Given the description of an element on the screen output the (x, y) to click on. 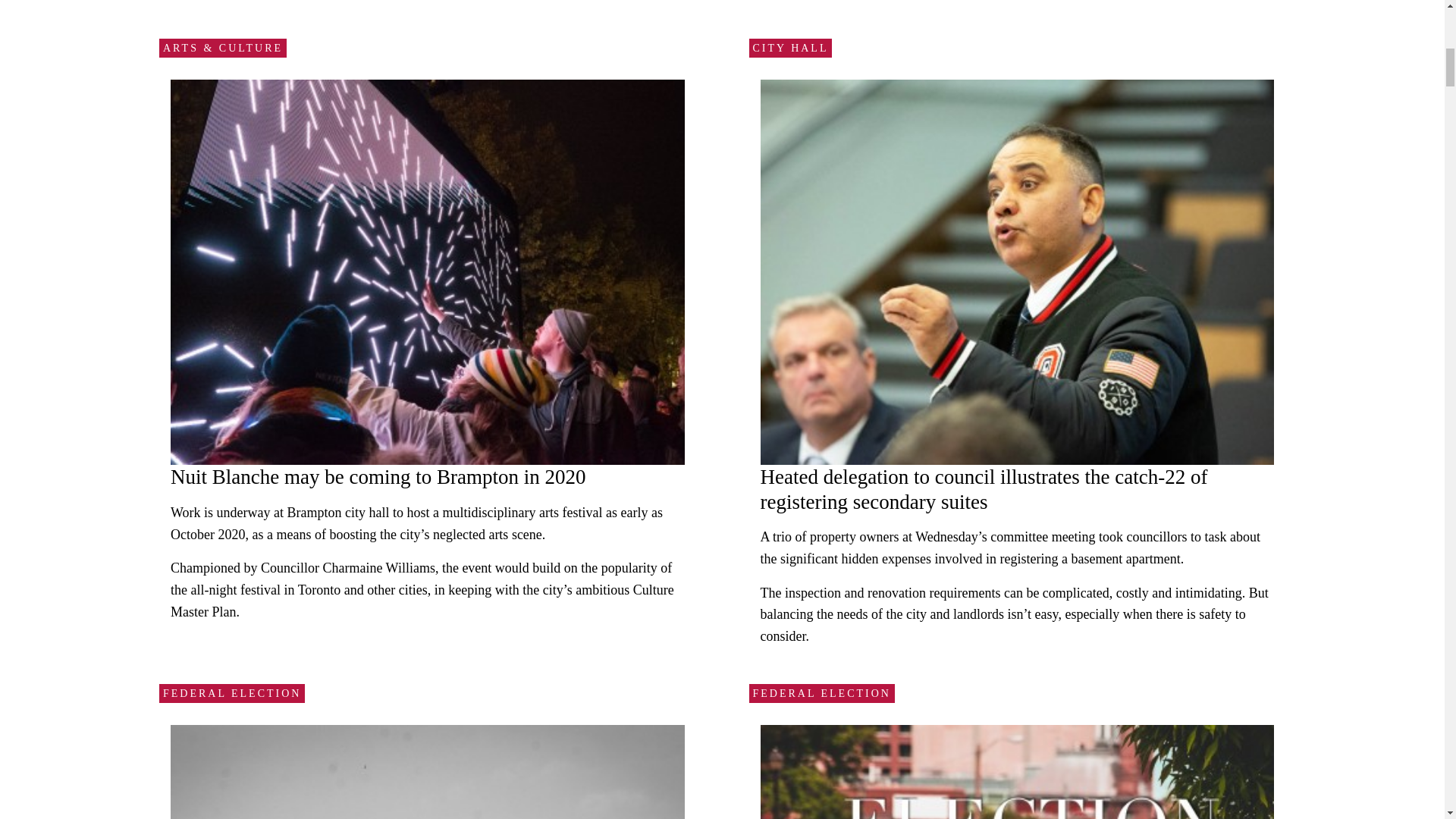
Nuit Blanche may be coming to Brampton in 2020 (377, 477)
